Given the description of an element on the screen output the (x, y) to click on. 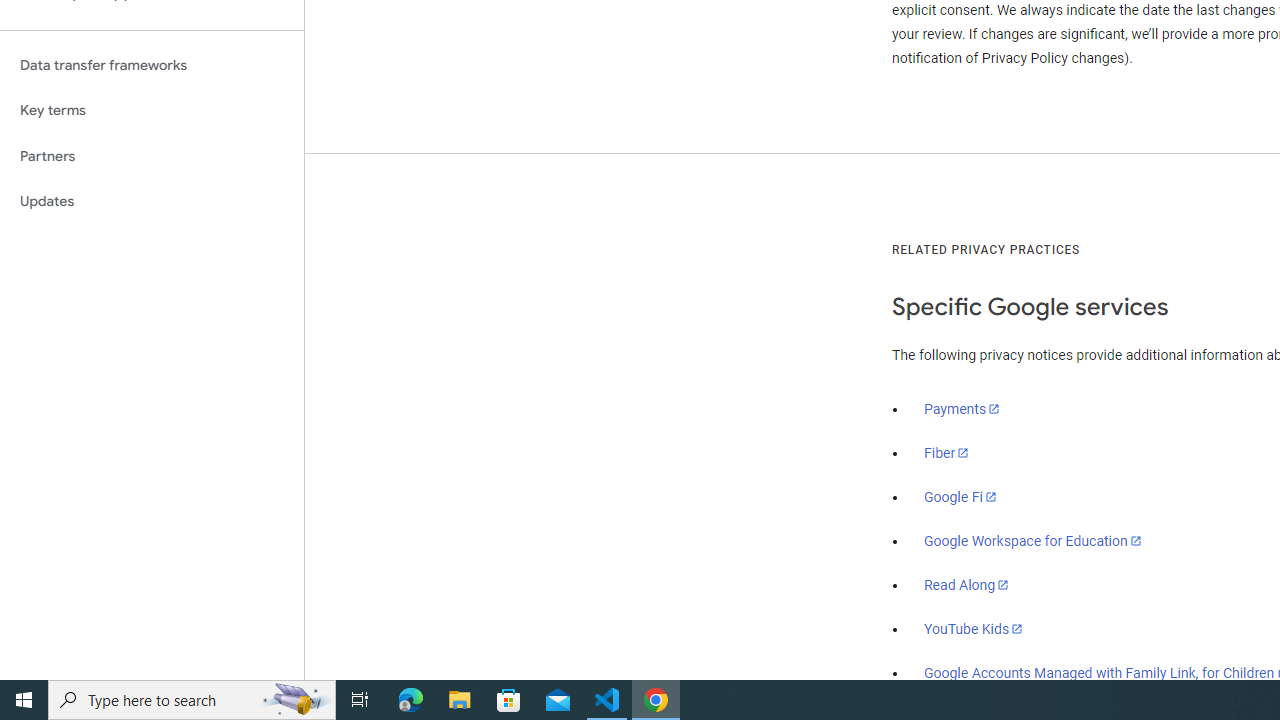
Partners (152, 156)
Read Along (966, 585)
YouTube Kids (974, 628)
Payments (962, 409)
Updates (152, 201)
Data transfer frameworks (152, 65)
Google Fi (960, 497)
Key terms (152, 110)
Google Workspace for Education (1032, 541)
Fiber (947, 453)
